Given the description of an element on the screen output the (x, y) to click on. 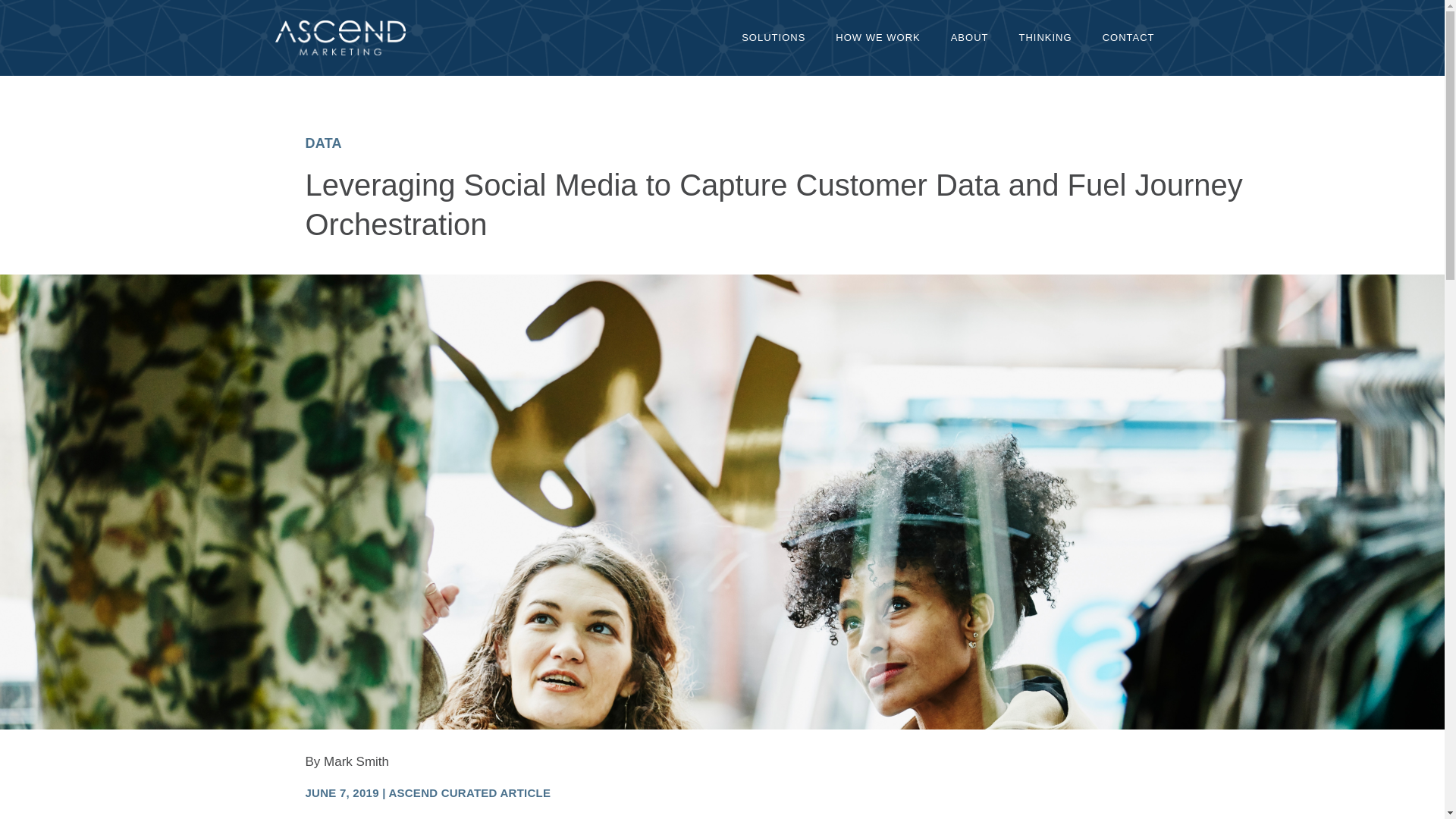
THINKING (1045, 37)
CONTACT (1128, 37)
SOLUTIONS (773, 37)
HOW WE WORK (877, 37)
ABOUT (970, 37)
